Given the description of an element on the screen output the (x, y) to click on. 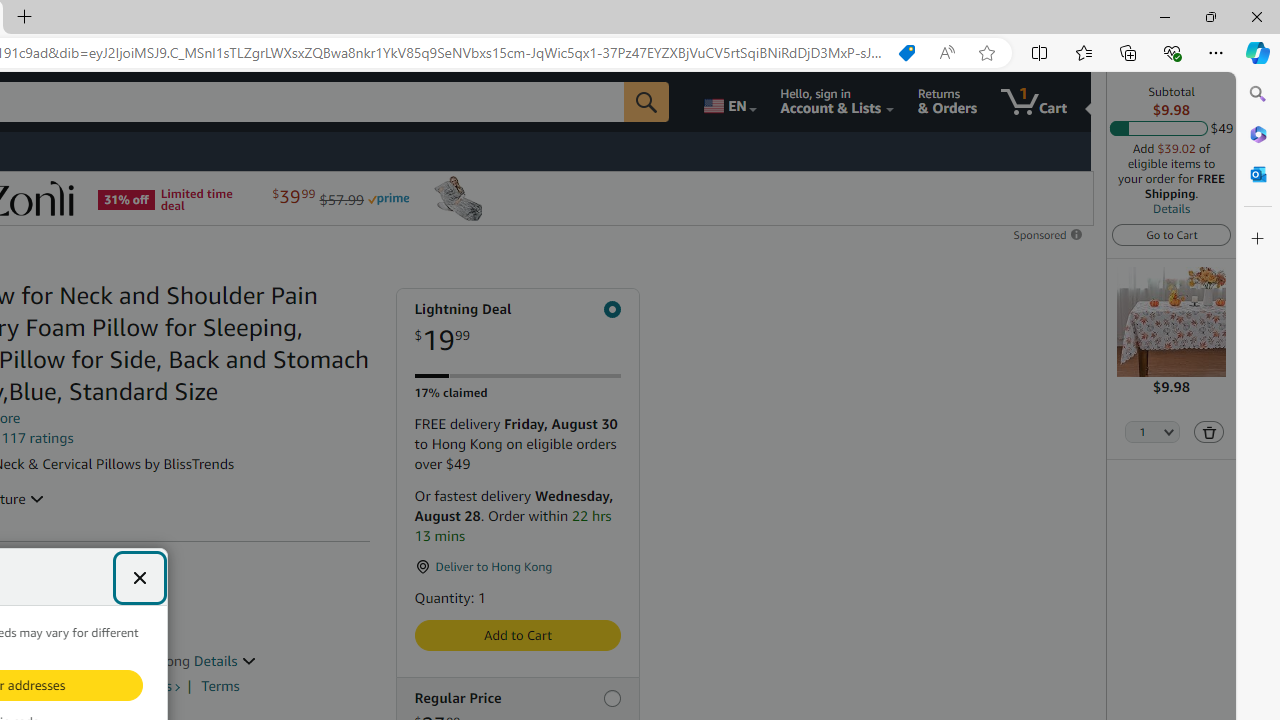
Returns & Orders (946, 101)
Add to Cart (516, 635)
Details (1171, 208)
You have the best price! (906, 53)
Terms (219, 686)
Go to Cart (1171, 234)
